Given the description of an element on the screen output the (x, y) to click on. 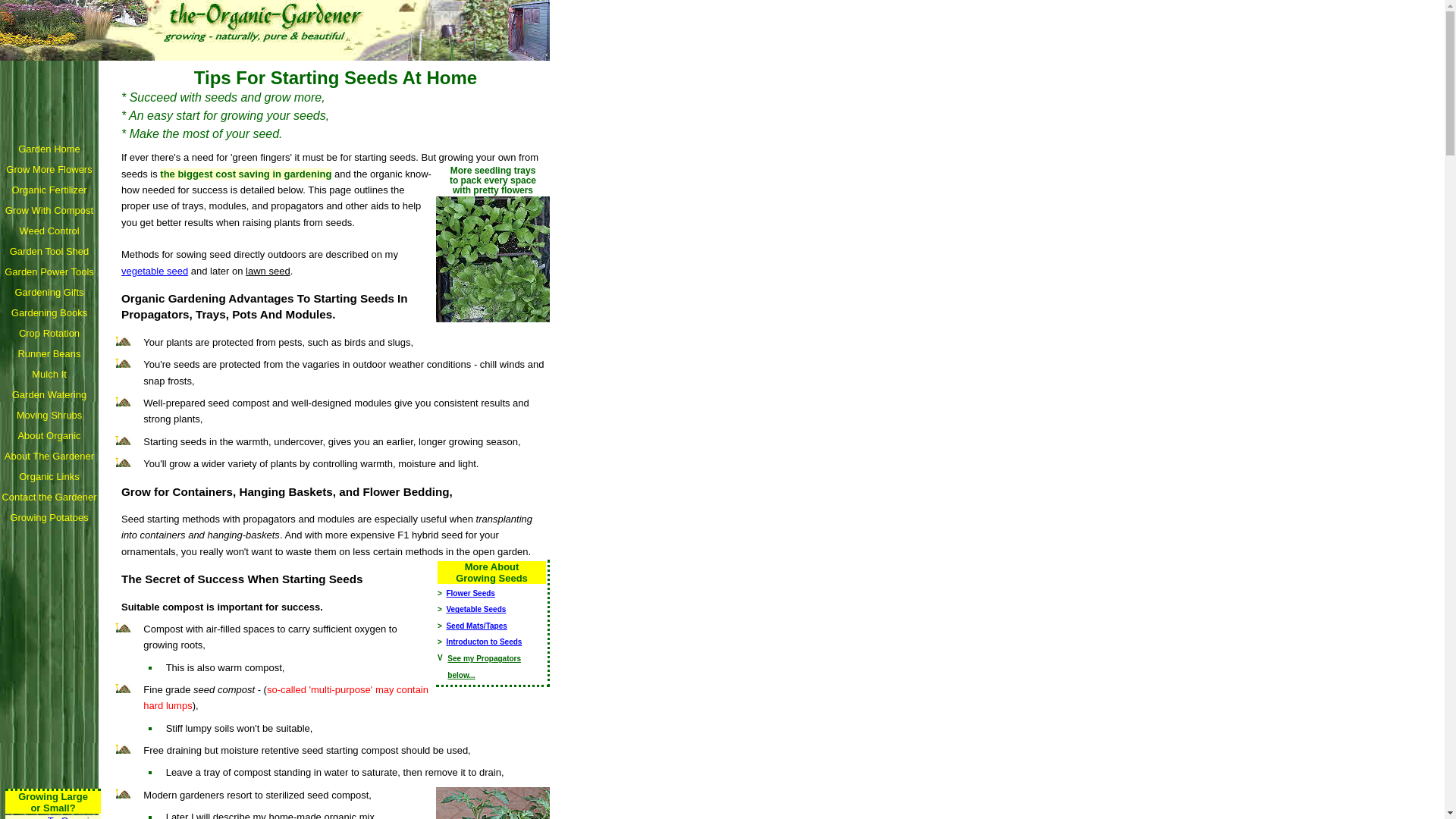
Flower Seeds (470, 592)
To Grow in Quantity (68, 816)
tomato seedlings (492, 803)
Introducton to Seeds (483, 642)
Vegetable Seeds (475, 609)
vegetable seed (153, 270)
Starting Seeds on the organic-gardener.com (275, 30)
full seedling tray ready for pricking out (492, 259)
